Given the description of an element on the screen output the (x, y) to click on. 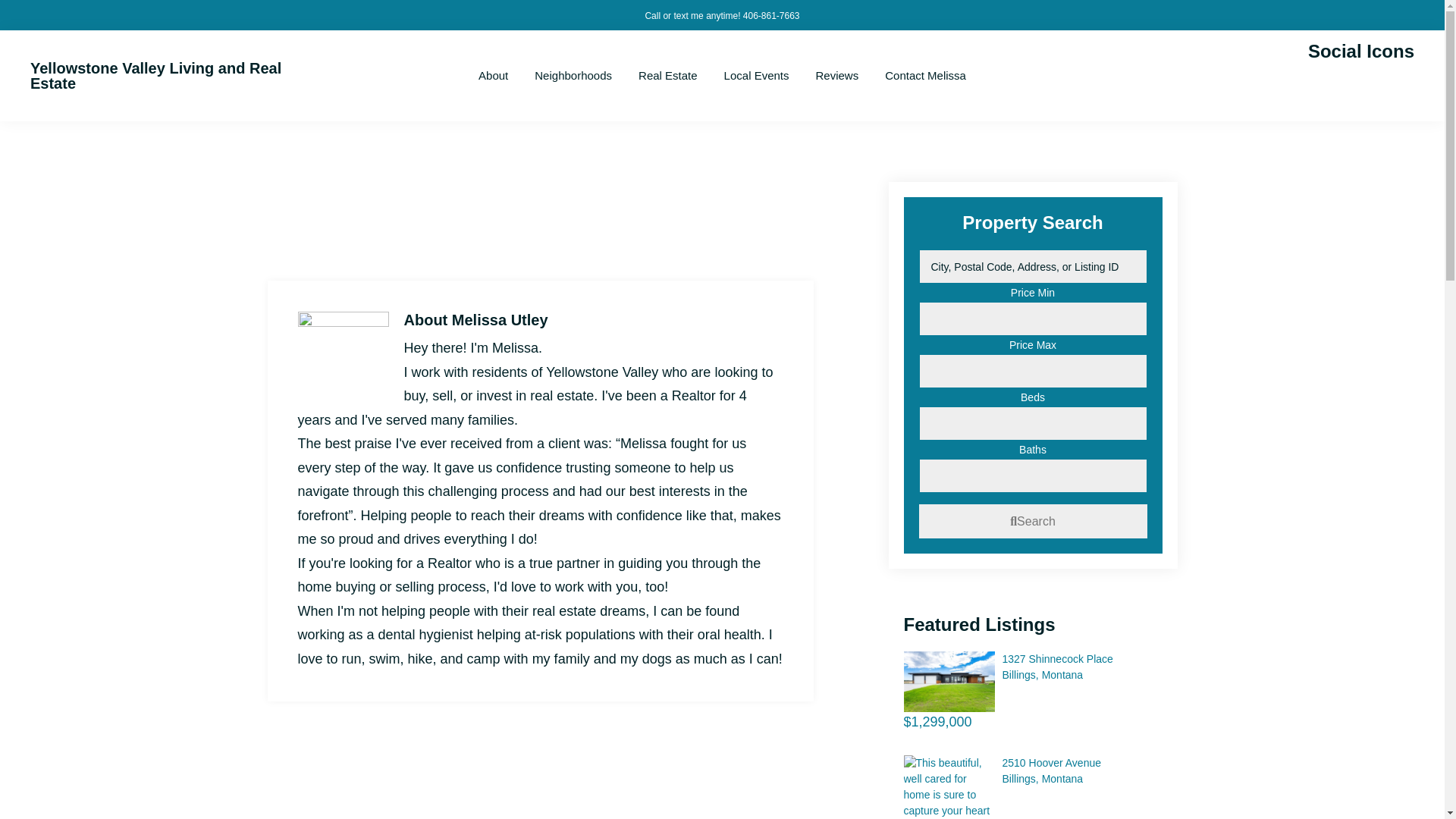
Real Estate (1032, 771)
2510  Hoover Avenue  Billings, Montana (668, 75)
Contact Melissa (949, 787)
Only numbers and decimals are allowed (924, 75)
Local Events (1032, 475)
Reviews (756, 75)
Yellowstone Valley Living and Real Estate (837, 75)
Search (155, 75)
Skip to primary navigation (1032, 667)
About (1032, 521)
1327  Shinnecock Place  Billings, Montana (493, 75)
